Given the description of an element on the screen output the (x, y) to click on. 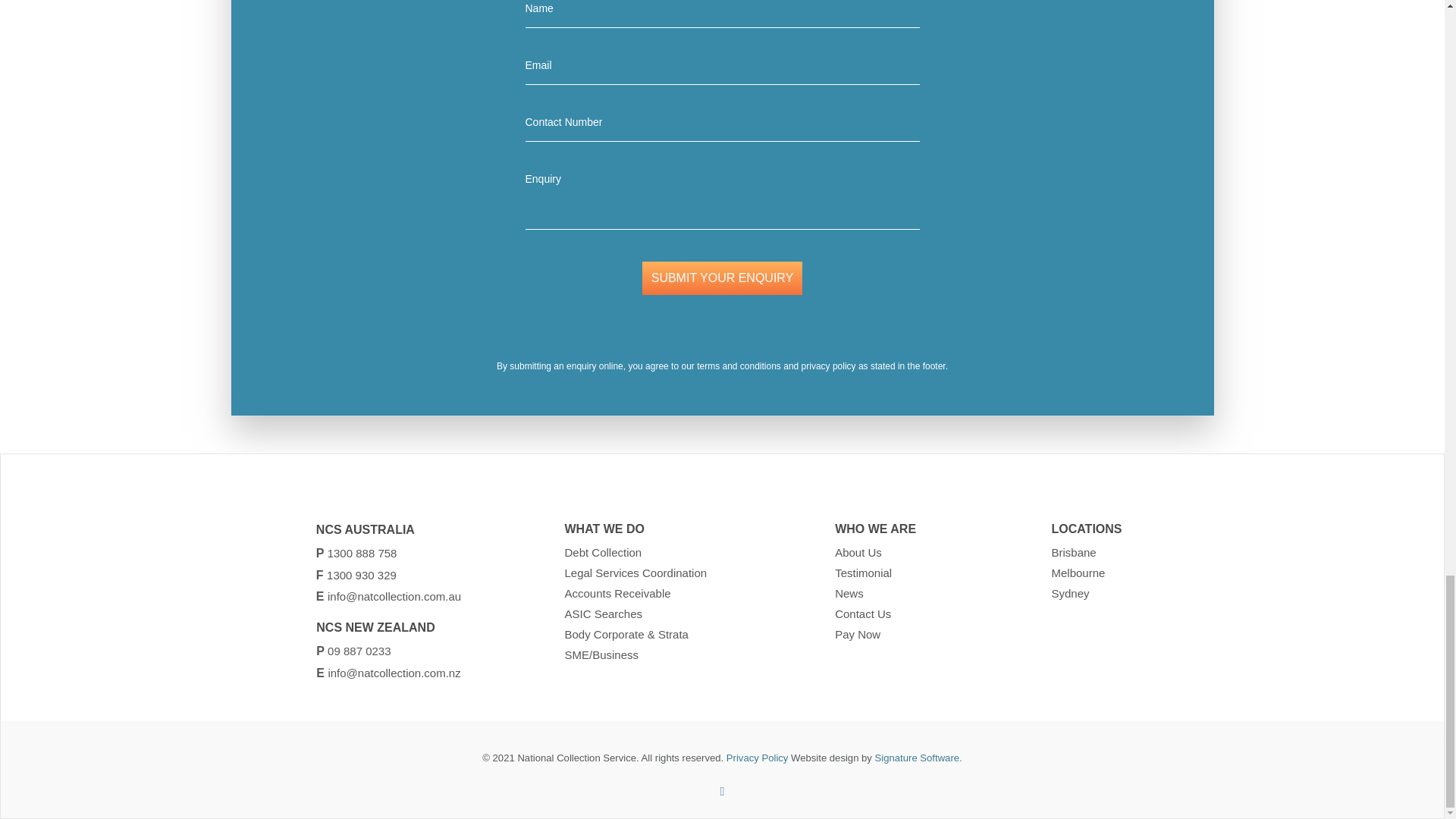
Submit your Enquiry (722, 277)
